Given the description of an element on the screen output the (x, y) to click on. 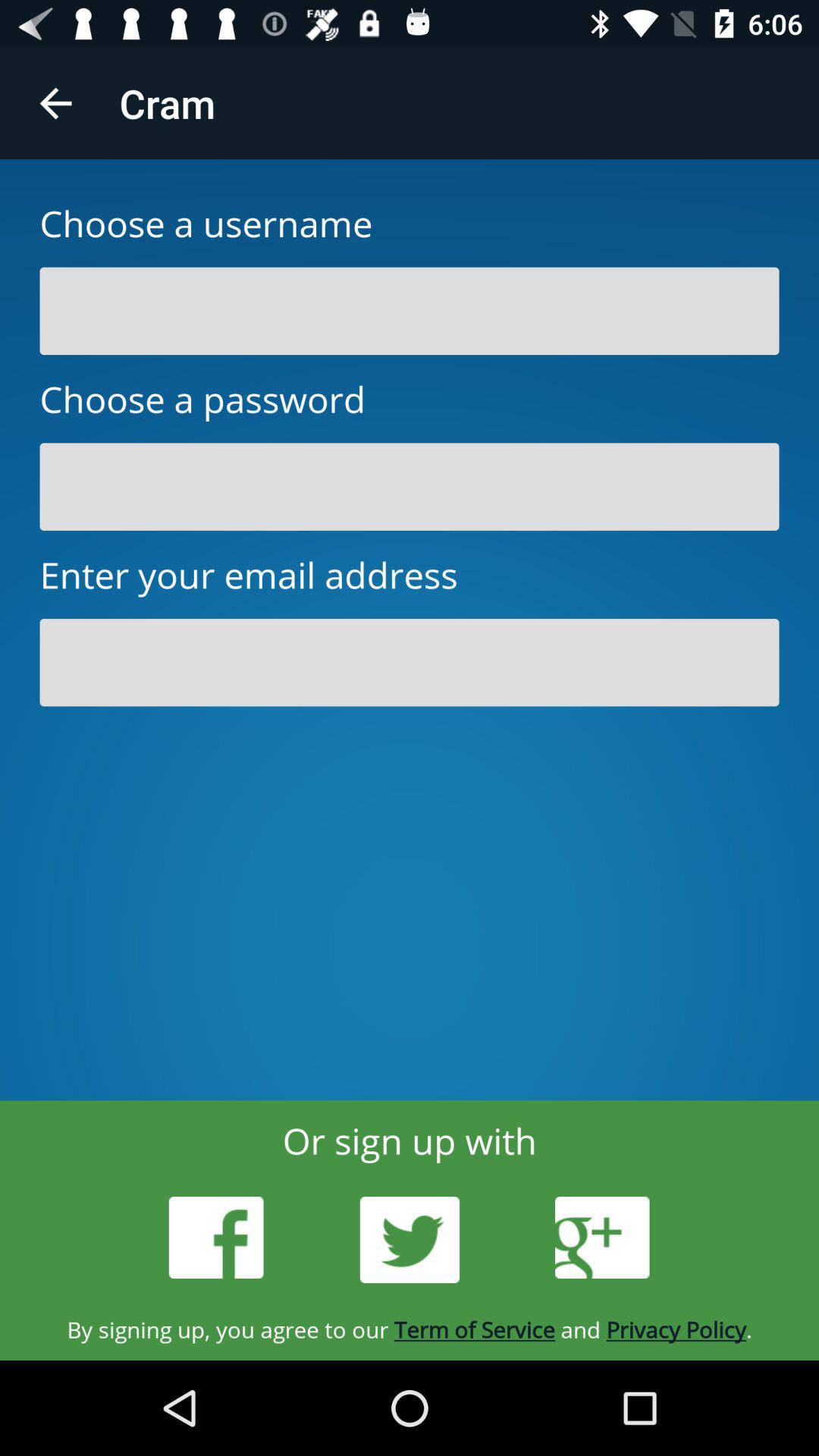
go to facebook log in (216, 1237)
